Given the description of an element on the screen output the (x, y) to click on. 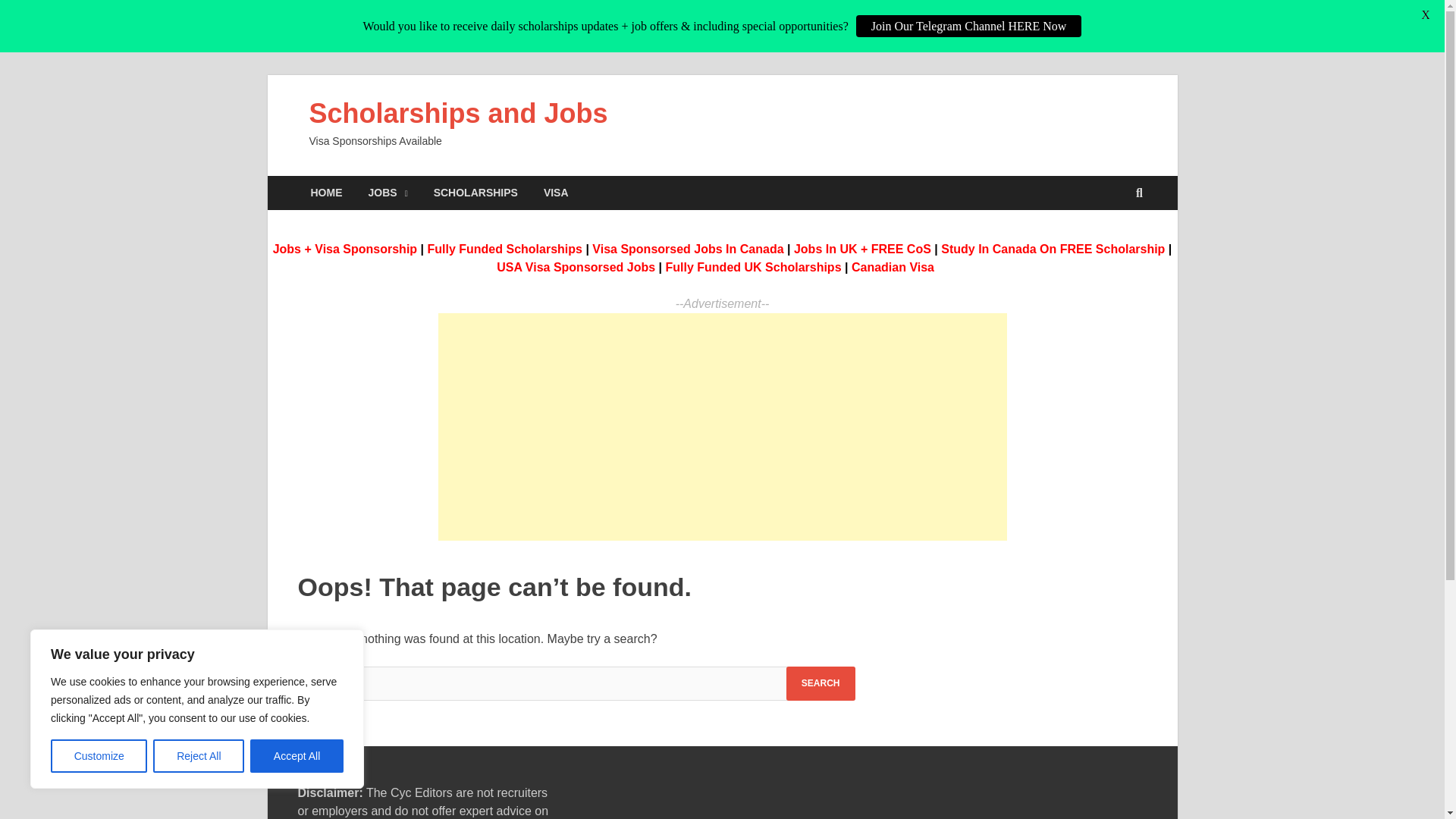
Accept All (296, 756)
Search (821, 683)
Search (821, 683)
Advertisement (722, 426)
Customize (98, 756)
SCHOLARSHIPS (475, 192)
HOME (326, 192)
VISA (555, 192)
JOBS (387, 192)
Scholarships and Jobs (458, 112)
